Given the description of an element on the screen output the (x, y) to click on. 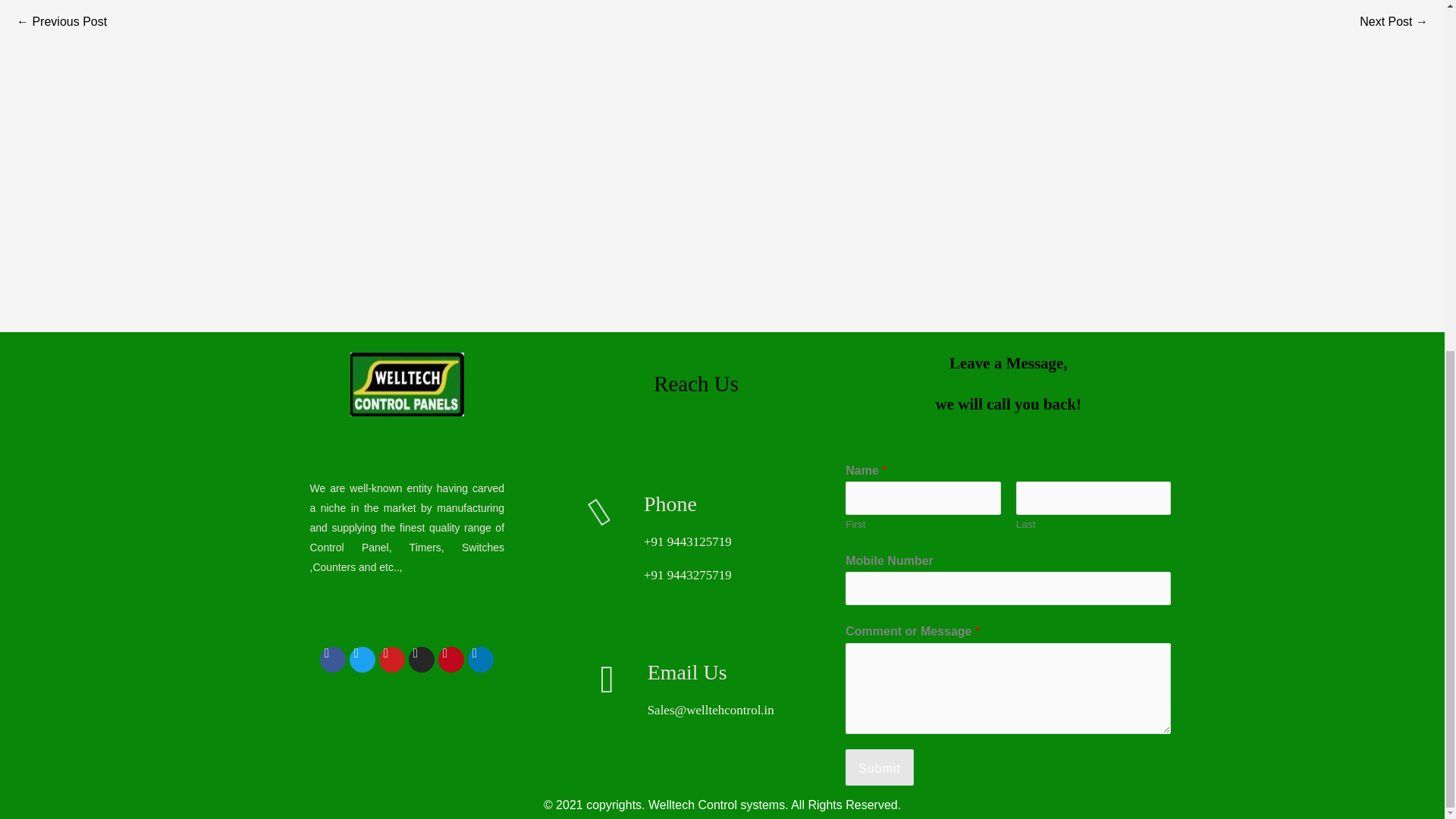
Submit (879, 767)
Youtube (391, 659)
Twitter (362, 659)
Pinterest (451, 659)
Several types of Data Room Software (1393, 22)
Linkedin (480, 659)
1xbet App Obtain For Android Gamers (61, 22)
Instagram (421, 659)
Facebook (333, 659)
